Given the description of an element on the screen output the (x, y) to click on. 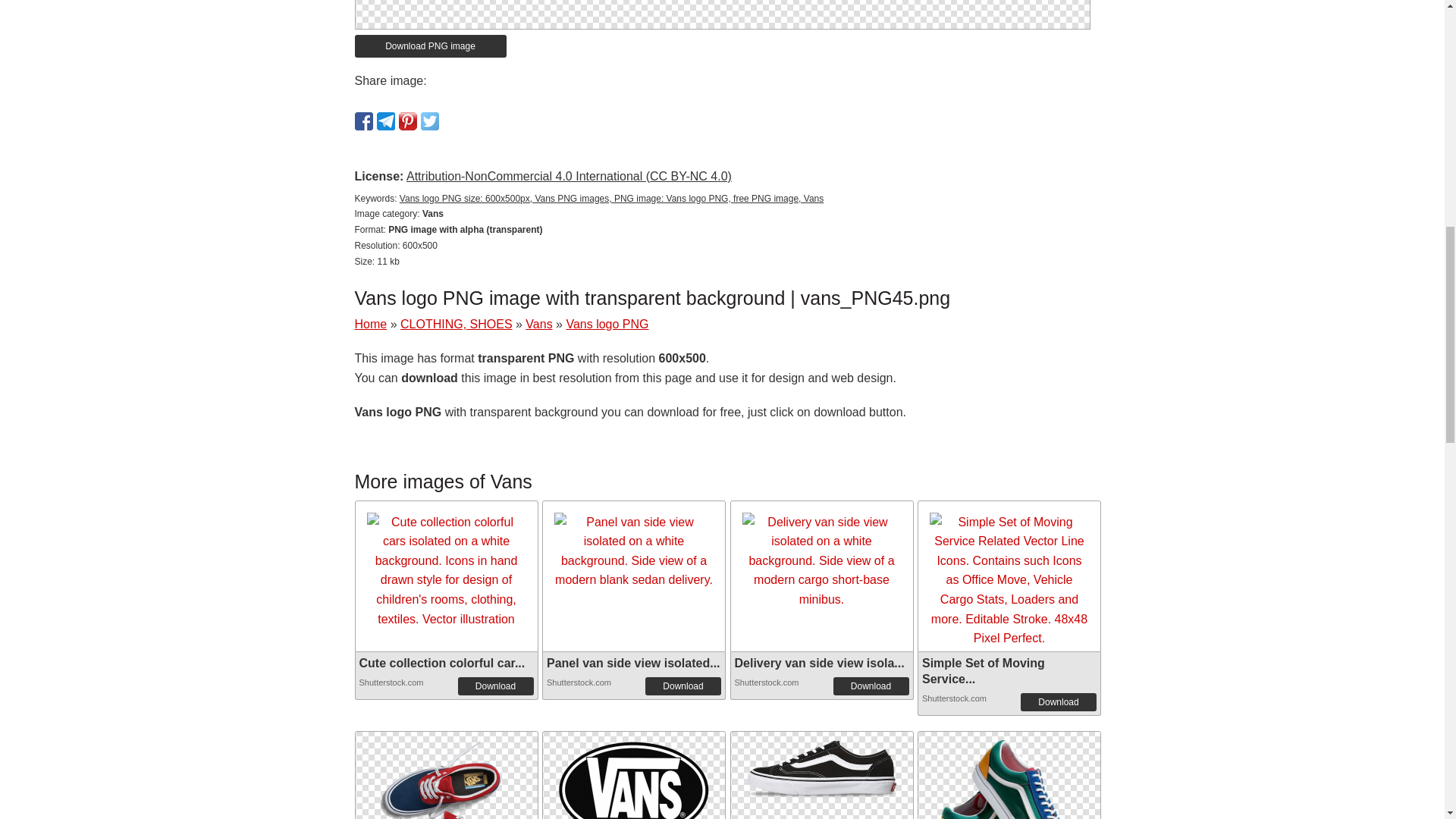
Vans shoes PNG (445, 802)
Vans shoes PNG (445, 775)
Vans shoes PNG (821, 765)
Vans shoes PNG (821, 764)
Vans (538, 323)
Cute collection colorful car... (442, 662)
Download (682, 686)
Delivery van side view isola... (818, 662)
Panel van side view isolated... (633, 662)
Download (496, 686)
Vans logo PNG (633, 775)
Simple Set of Moving Service... (983, 670)
